Given the description of an element on the screen output the (x, y) to click on. 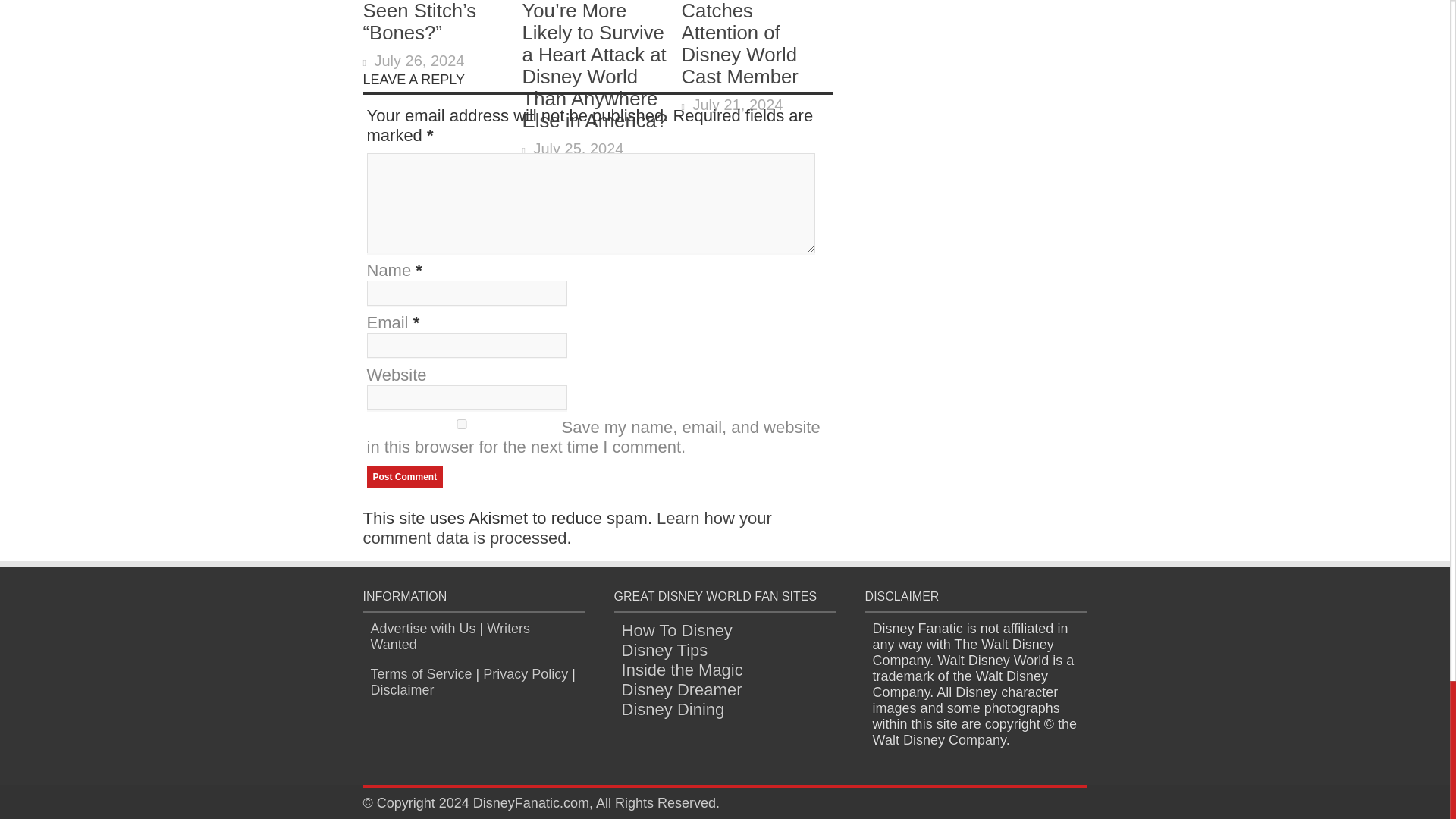
yes (461, 424)
Post Comment (405, 477)
